Given the description of an element on the screen output the (x, y) to click on. 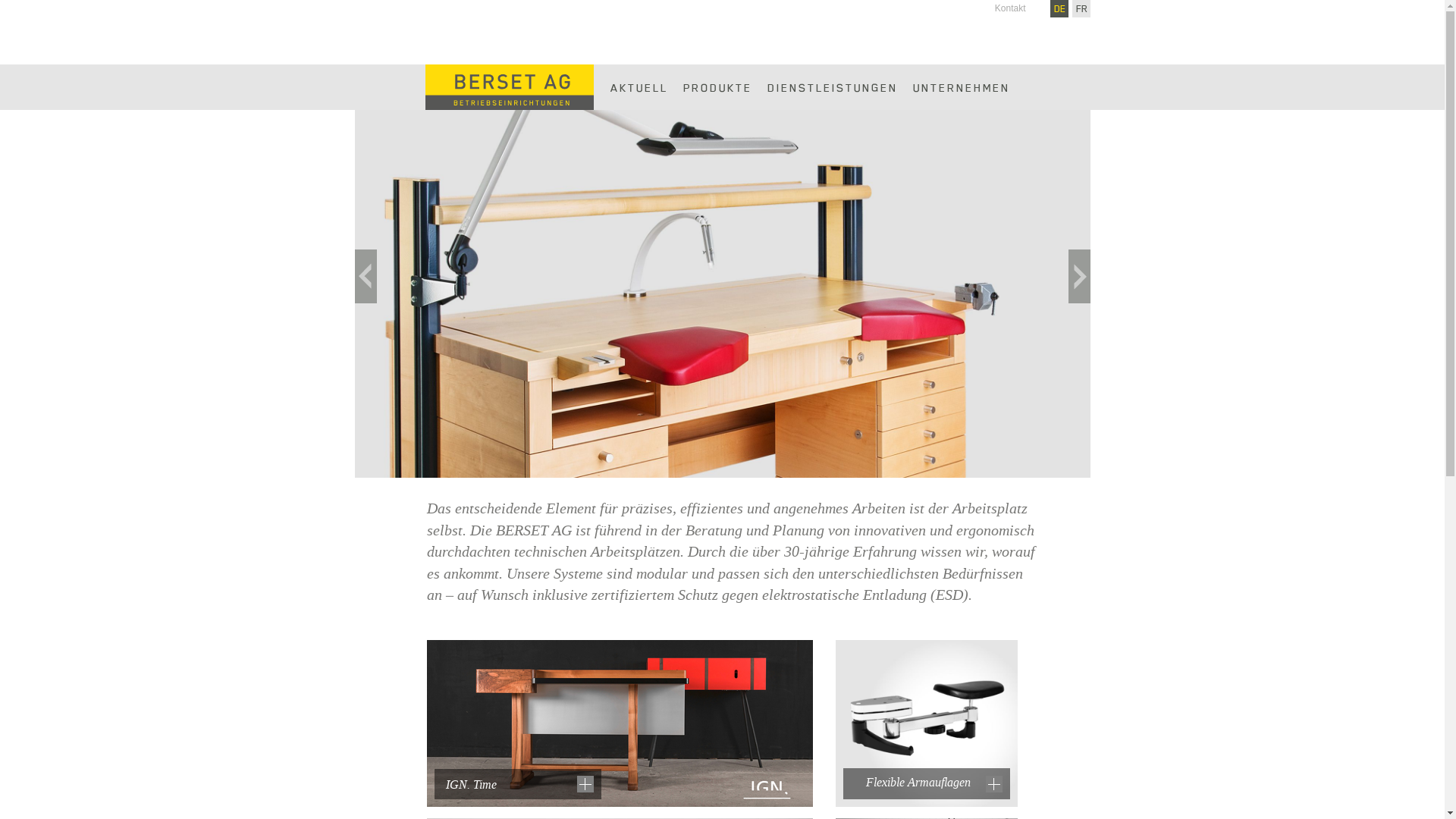
 Kontakt Element type: text (1008, 8)
PRODUKTE Element type: text (717, 86)
UNTERNEHMEN Element type: text (961, 86)
Startseite Element type: hover (509, 86)
AKTUELL Element type: text (638, 86)
DIENSTLEISTUNGEN Element type: text (832, 86)
DE Element type: text (1060, 8)
FR Element type: text (1081, 8)
